Given the description of an element on the screen output the (x, y) to click on. 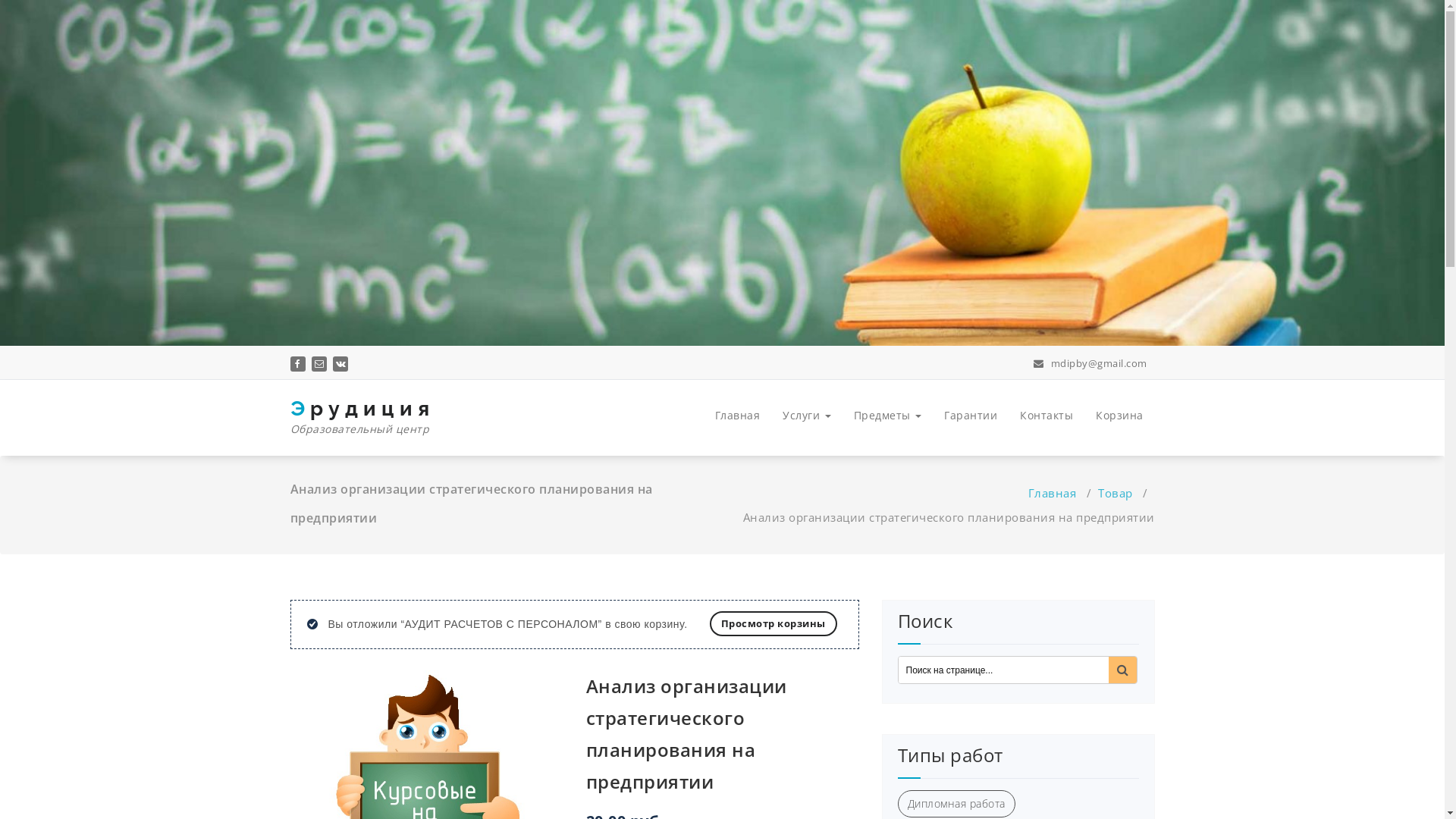
mdipby@gmail.com Element type: text (1089, 363)
